Given the description of an element on the screen output the (x, y) to click on. 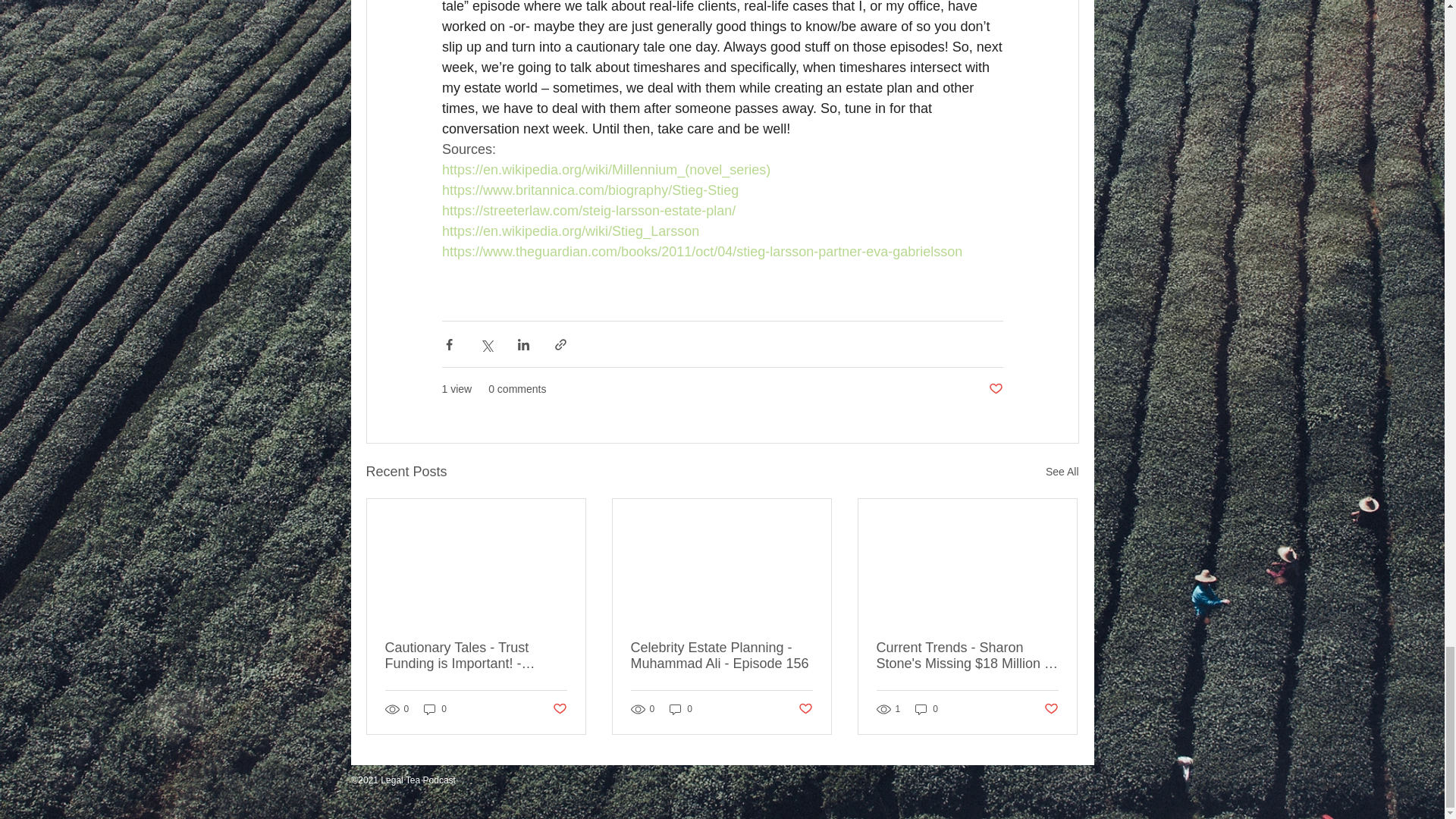
Post not marked as liked (1050, 709)
0 (681, 708)
0 (435, 708)
See All (1061, 472)
Celebrity Estate Planning - Muhammad Ali - Episode 156 (721, 655)
Post not marked as liked (558, 709)
0 (926, 708)
Post not marked as liked (804, 709)
Post not marked as liked (995, 389)
Cautionary Tales - Trust Funding is Important! - Episode 157 (476, 655)
